Given the description of an element on the screen output the (x, y) to click on. 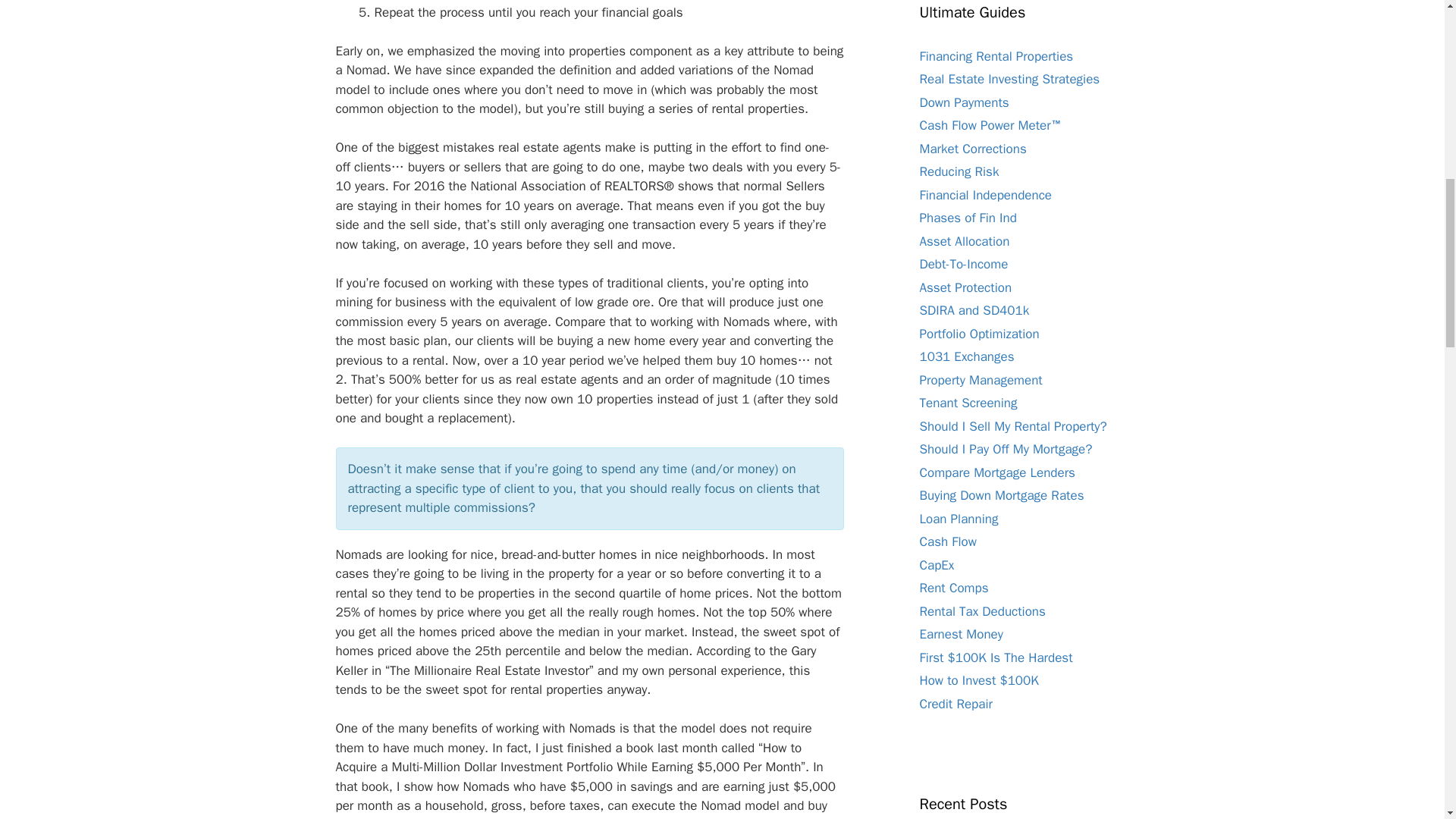
Scroll back to top (1406, 720)
